Given the description of an element on the screen output the (x, y) to click on. 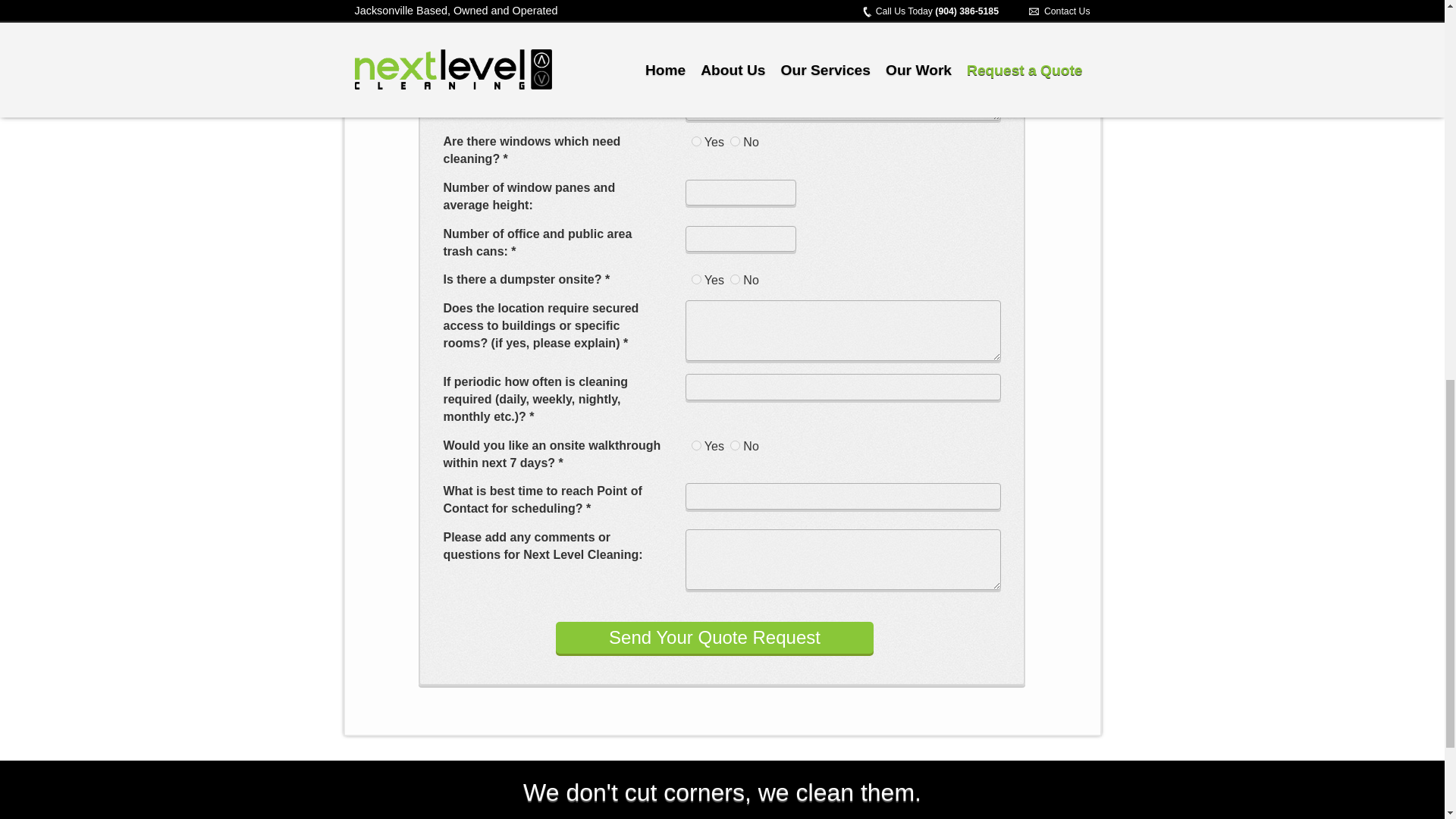
Send Your Quote Request (714, 637)
Yes (696, 141)
No (734, 141)
